Given the description of an element on the screen output the (x, y) to click on. 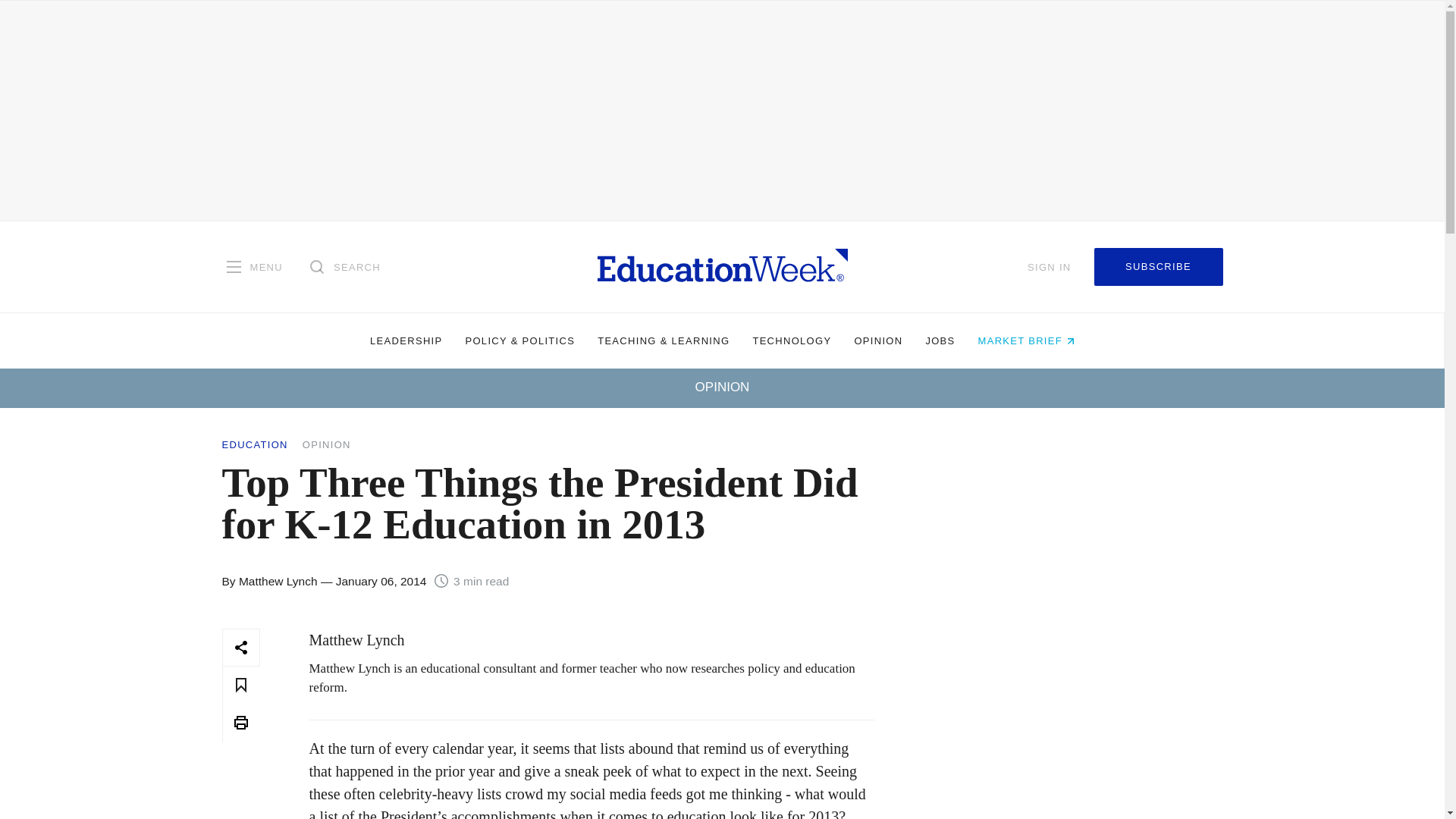
3rd party ad content (1070, 723)
Homepage (721, 266)
